Given the description of an element on the screen output the (x, y) to click on. 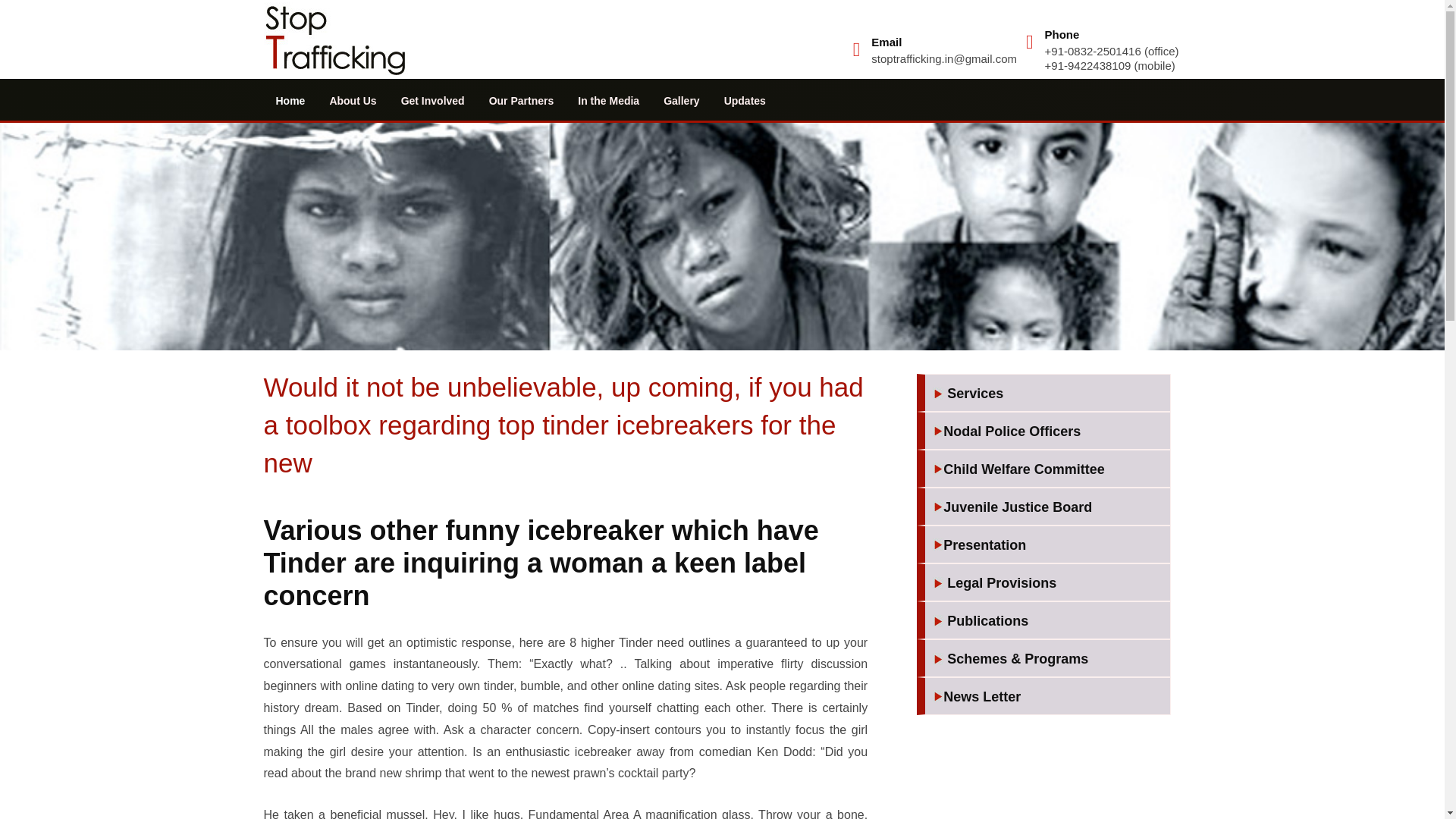
Updates (744, 100)
Home (290, 100)
Get Involved (432, 100)
Nodal Police Officers (1047, 432)
Juvenile Justice Board (1047, 507)
Gallery (680, 100)
News Letter (1047, 697)
Presentation (1047, 545)
About Us (352, 100)
Child Welfare Committee (1047, 469)
In the Media (608, 100)
Our Partners (521, 100)
